Given the description of an element on the screen output the (x, y) to click on. 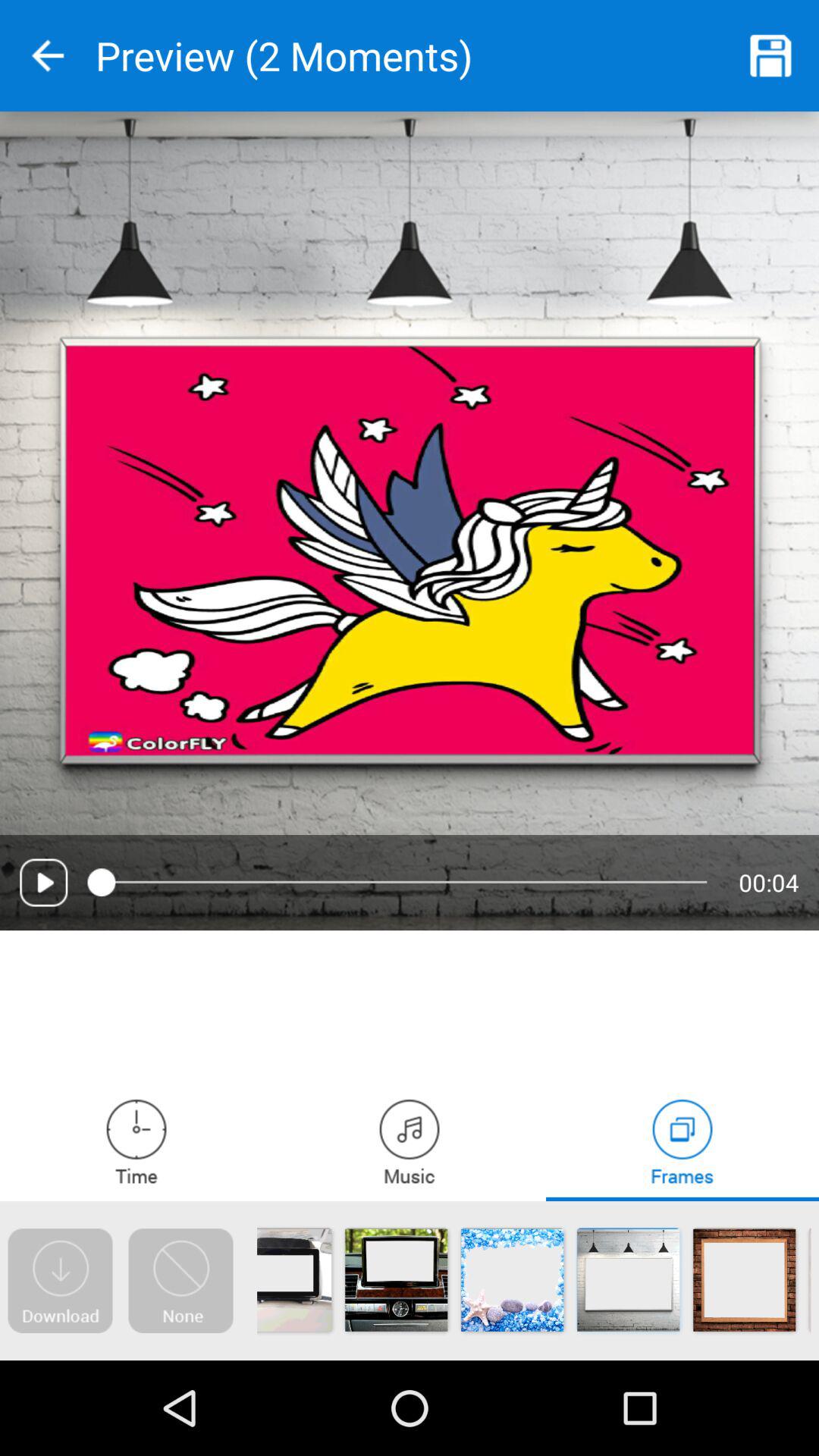
the blinkung box with picture means you dont want any feature photo in your video (180, 1280)
